Given the description of an element on the screen output the (x, y) to click on. 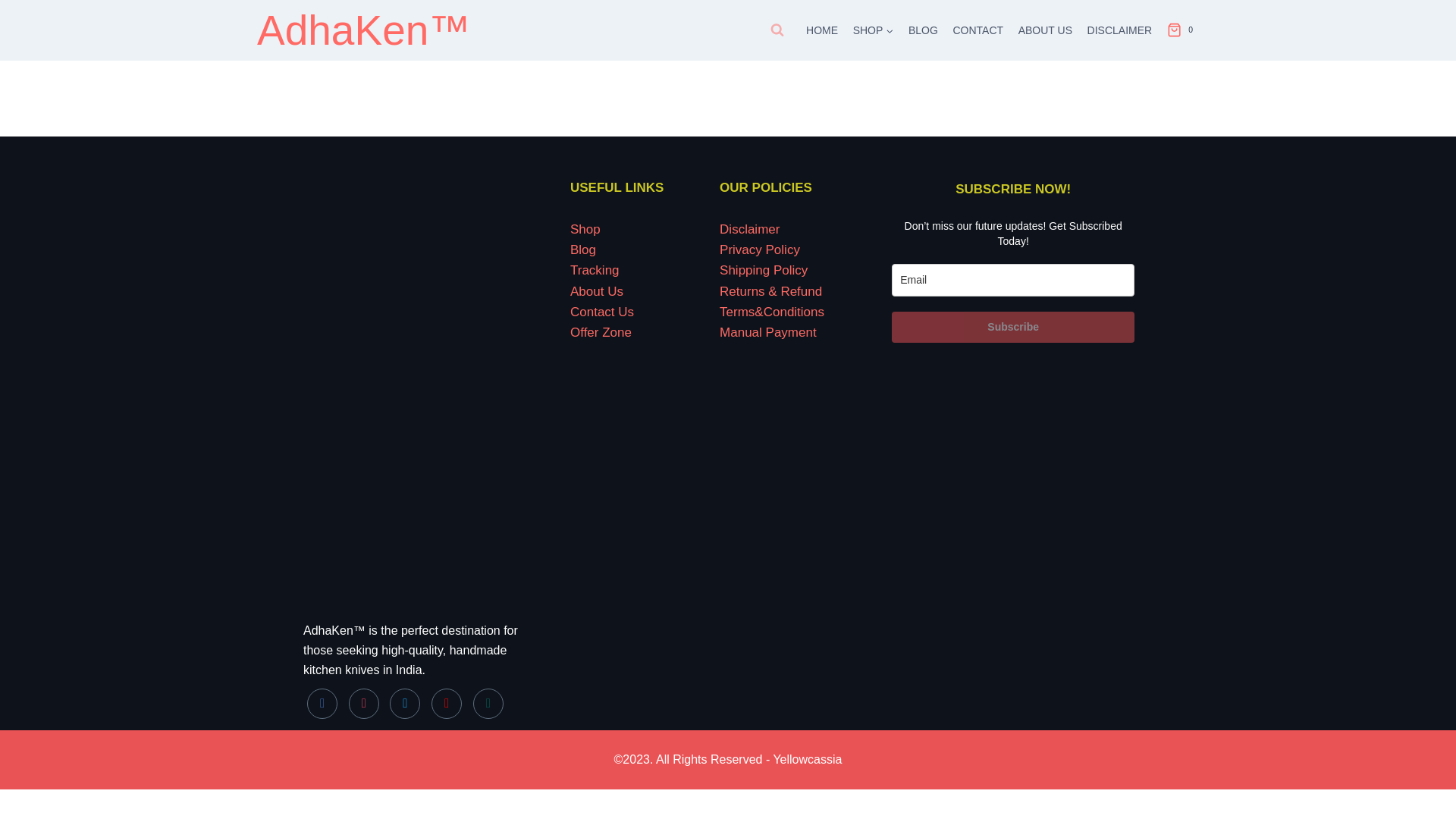
Contact Us (601, 311)
Blog (582, 249)
BLOG (922, 30)
0 (1182, 29)
ABOUT US (1045, 30)
Tracking (595, 269)
Shipping Policy (763, 269)
Disclaimer (748, 228)
Offer Zone (600, 332)
HOME (821, 30)
